Given the description of an element on the screen output the (x, y) to click on. 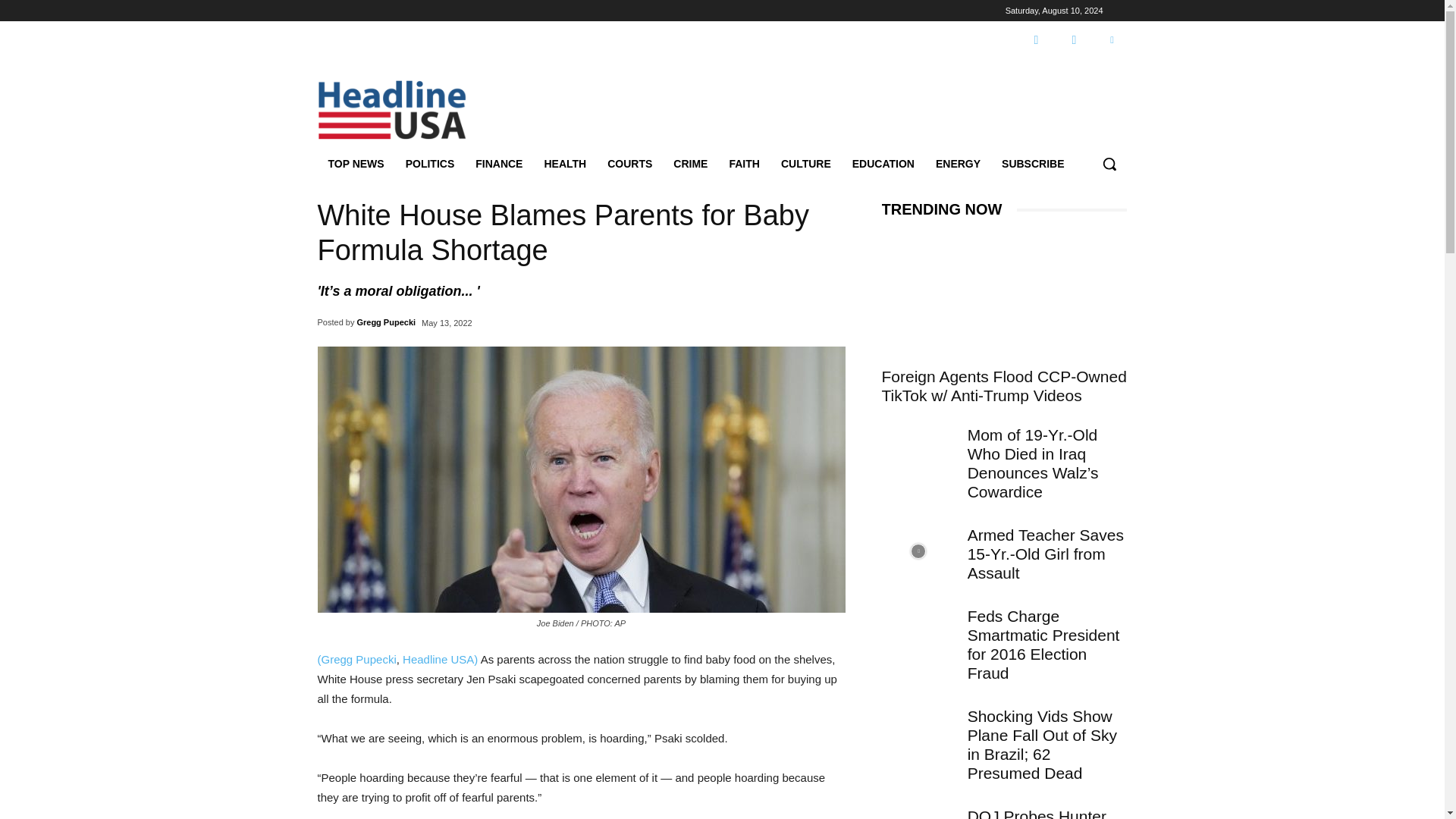
COURTS (629, 163)
CULTURE (805, 163)
HEALTH (564, 163)
POLITICS (429, 163)
TOP NEWS (355, 163)
Gregg Pupecki (385, 322)
EDUCATION (882, 163)
FAITH (743, 163)
Instagram (1073, 40)
ENERGY (957, 163)
